Given the description of an element on the screen output the (x, y) to click on. 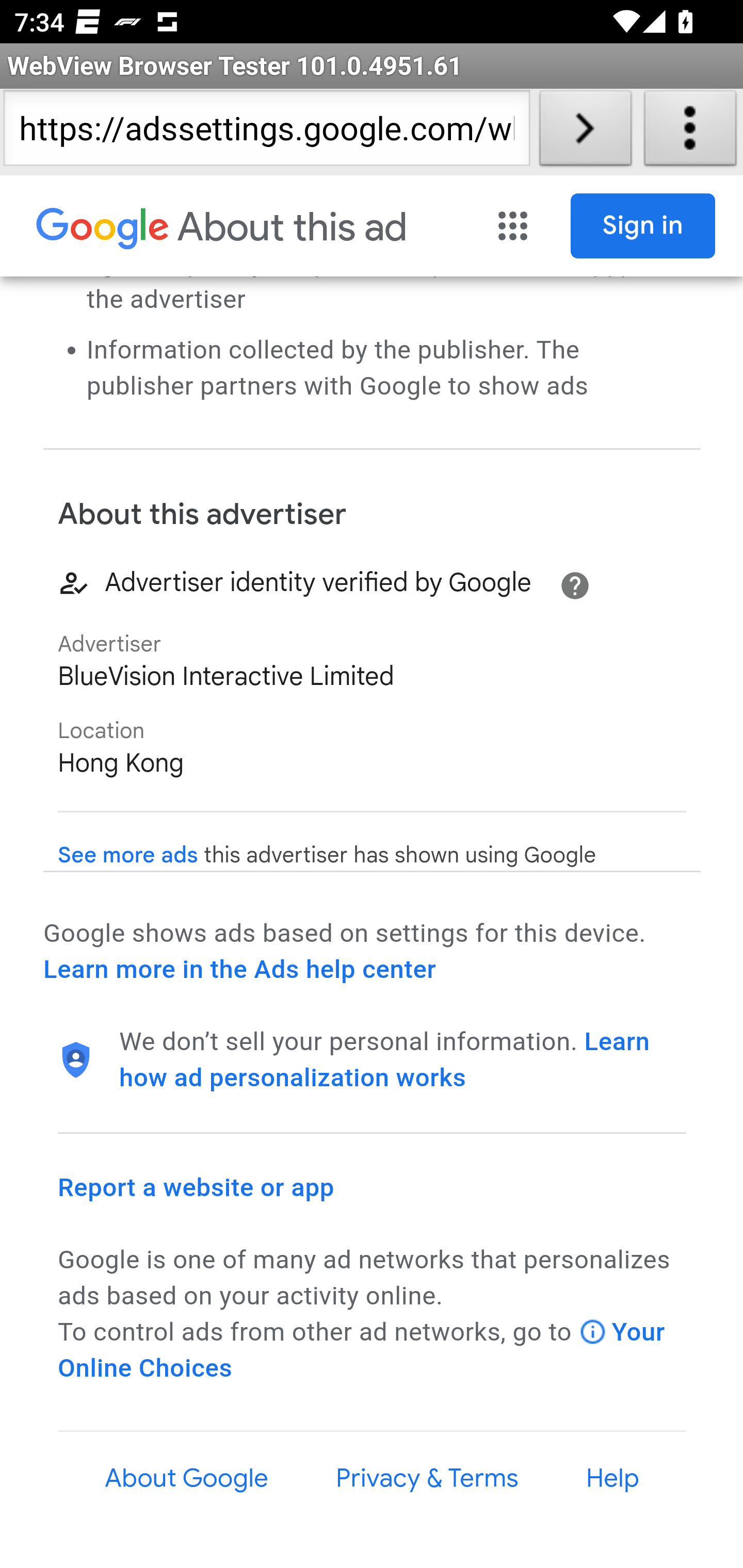
https://adssettings.google.com/whythisad (266, 132)
Load URL (585, 132)
About WebView (690, 132)
Google apps (513, 226)
Sign in (643, 226)
See more ads (opens in new tab) See more ads (127, 856)
Learn more in the Ads help center (239, 969)
Learn how ad personalization works (384, 1059)
Report a website or app (196, 1187)
Your Online Choices (361, 1349)
About Google (186, 1478)
Privacy & Terms (426, 1478)
Help (612, 1478)
